Given the description of an element on the screen output the (x, y) to click on. 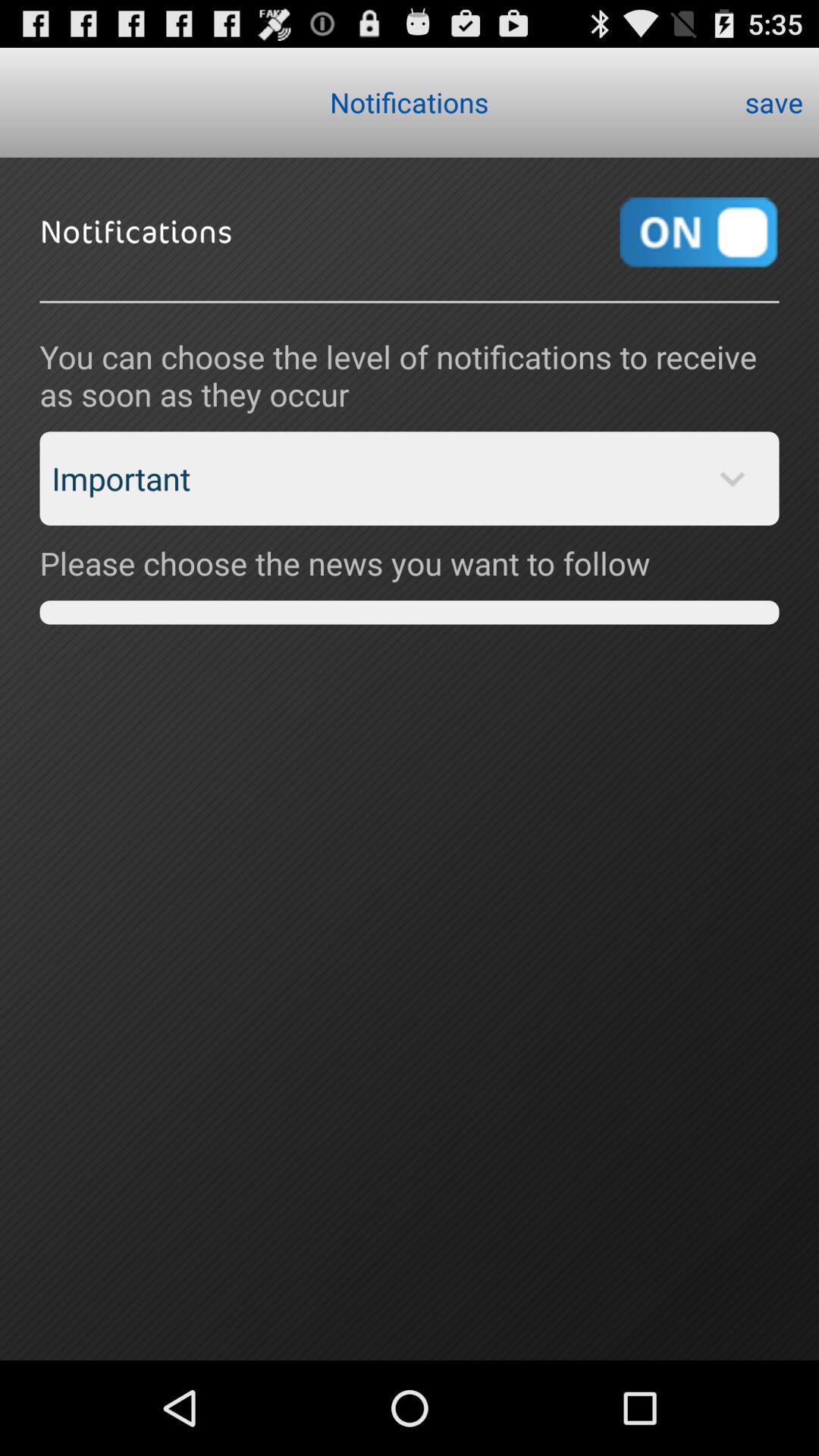
select the app below the you can choose (409, 478)
